Given the description of an element on the screen output the (x, y) to click on. 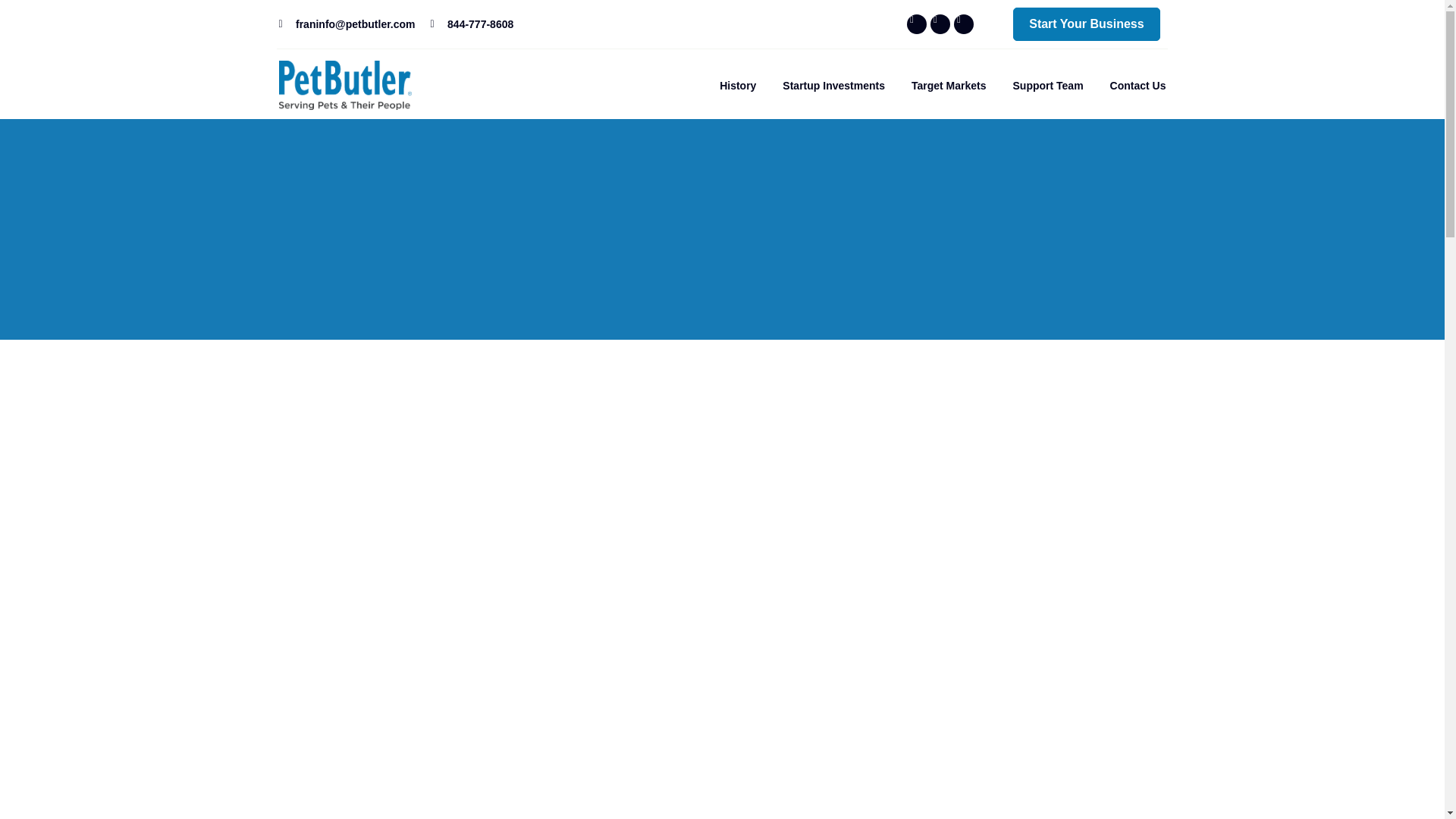
Start Your Business (1085, 23)
844-777-8608 (471, 23)
Contact Us (1137, 85)
History (737, 85)
Support Team (1048, 85)
Startup Investments (834, 85)
Target Markets (949, 85)
